Given the description of an element on the screen output the (x, y) to click on. 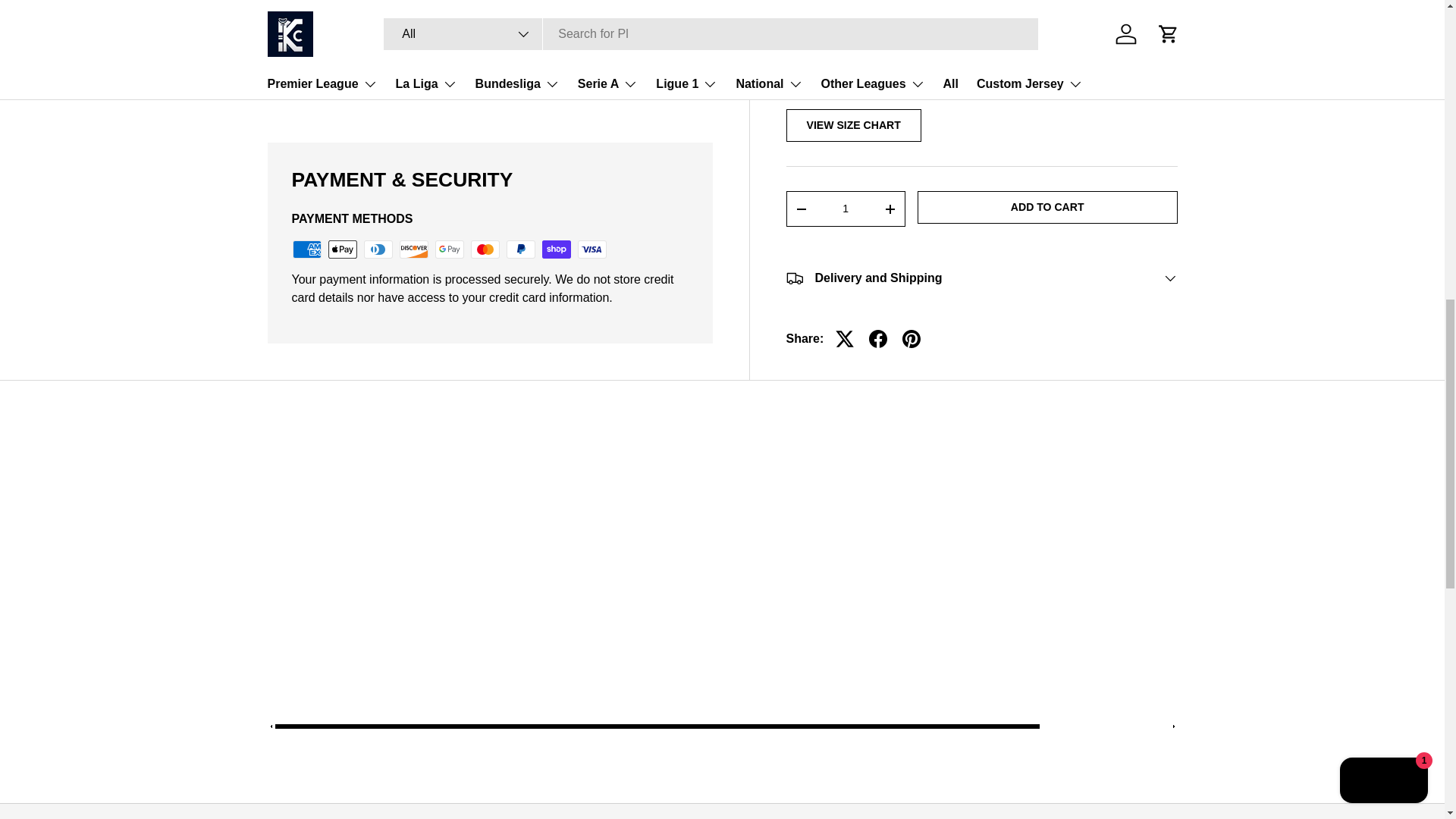
Pin on Pinterest (911, 110)
Share on Facebook (878, 110)
Tweet on X (844, 110)
